Given the description of an element on the screen output the (x, y) to click on. 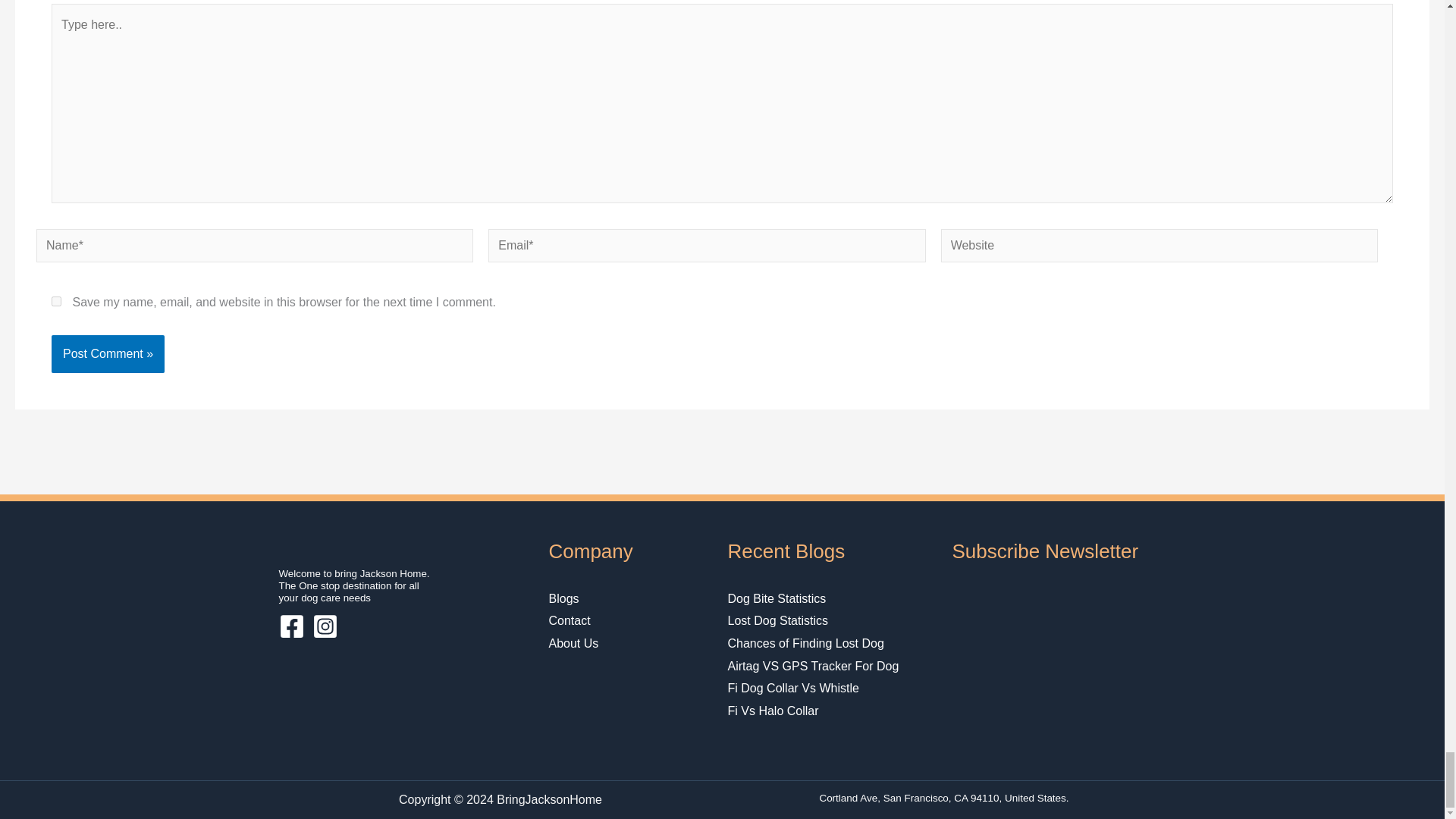
yes (55, 301)
